Given the description of an element on the screen output the (x, y) to click on. 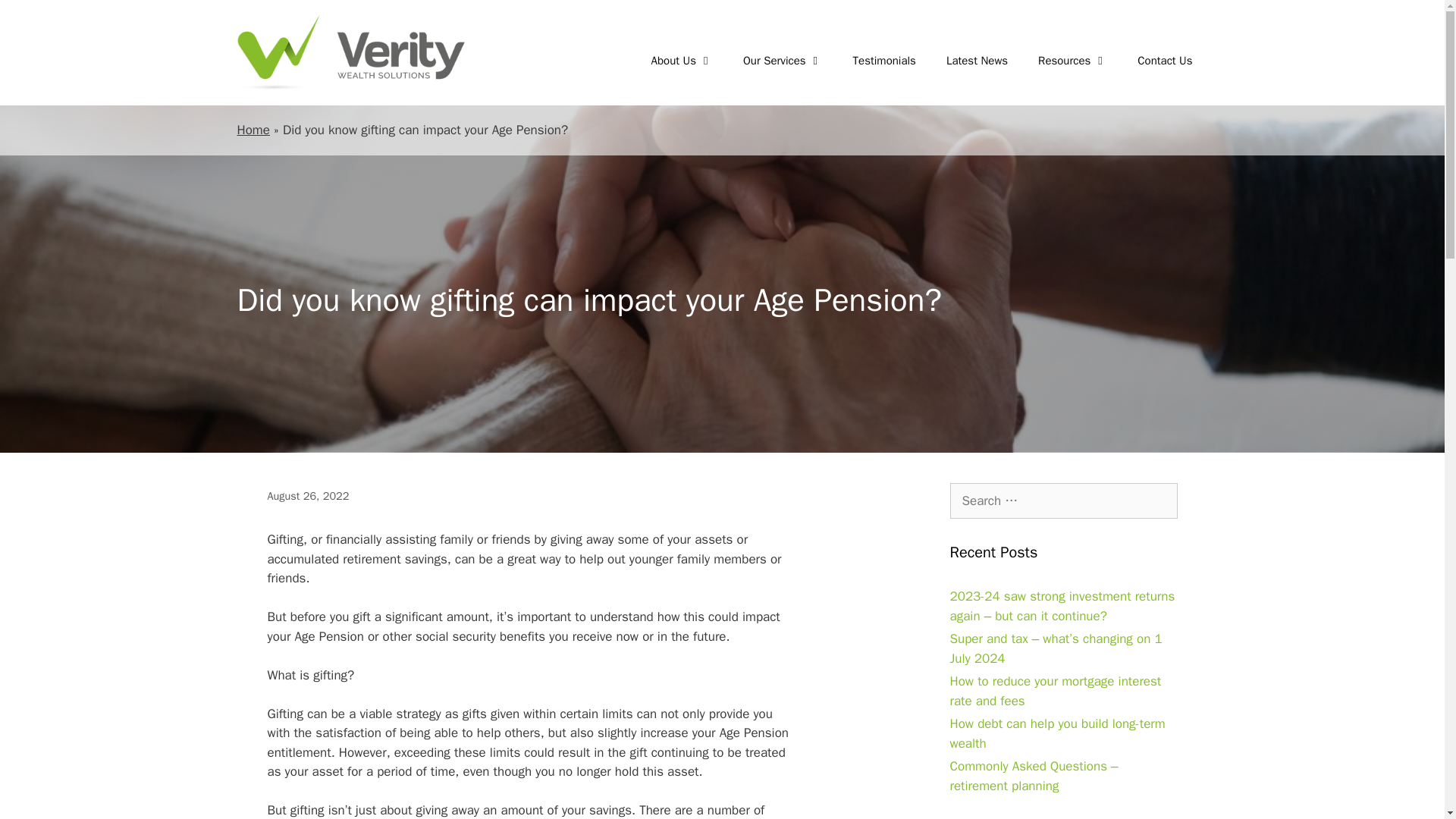
Resources (1072, 60)
Home (252, 130)
Latest News (977, 60)
Search for: (1062, 500)
Testimonials (884, 60)
Our Services (783, 60)
About Us (682, 60)
Contact Us (1164, 60)
